Given the description of an element on the screen output the (x, y) to click on. 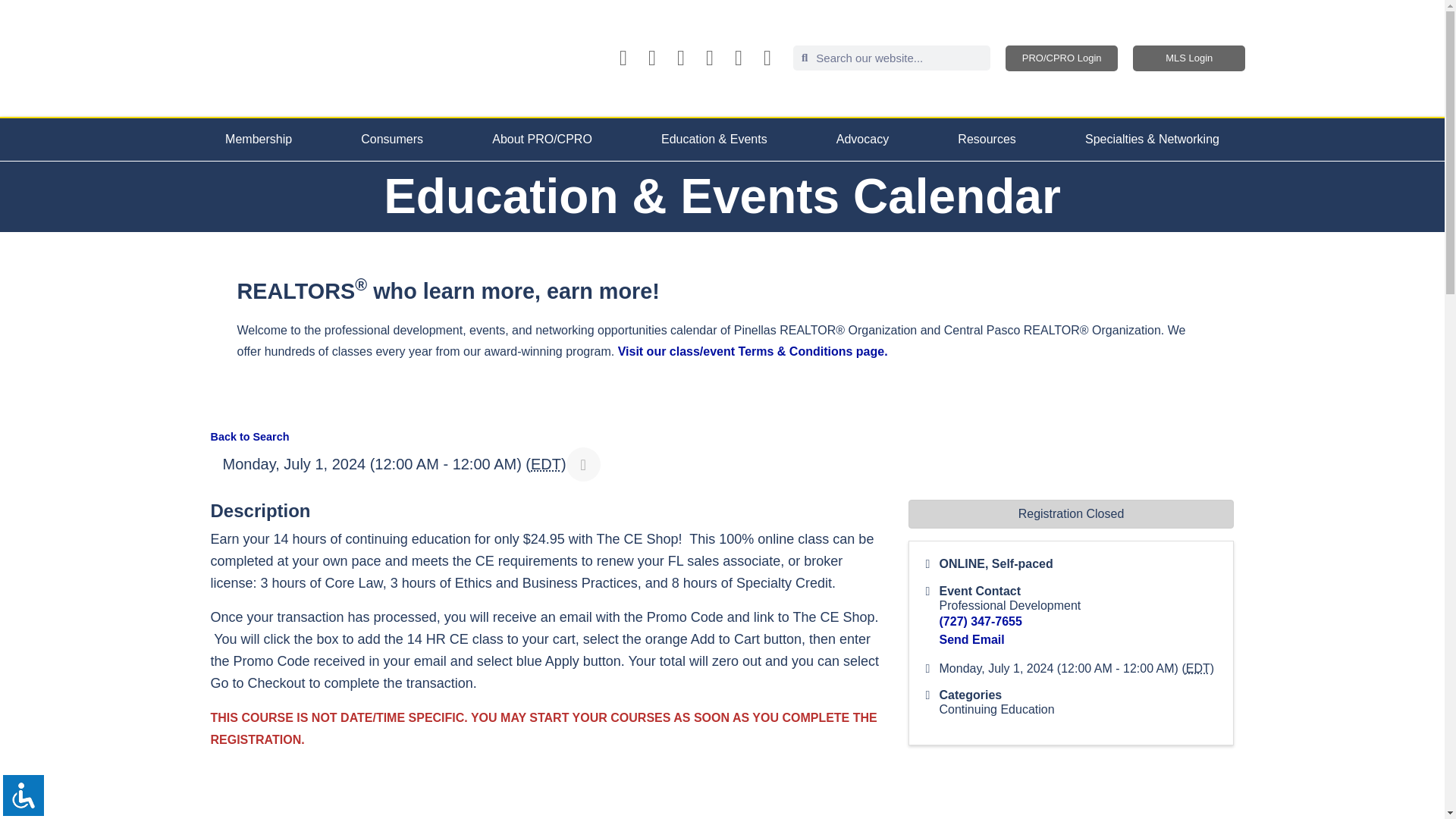
PROCPRO on Facebook (622, 57)
Membership (257, 138)
PROCPRO on Youtube (680, 57)
MLS Login (1188, 58)
Log into your Stellar MLS account (1188, 58)
Local Real Estate Market Stats (767, 57)
PROCPRO on LinkedIn (709, 57)
Consumers (392, 138)
